Given the description of an element on the screen output the (x, y) to click on. 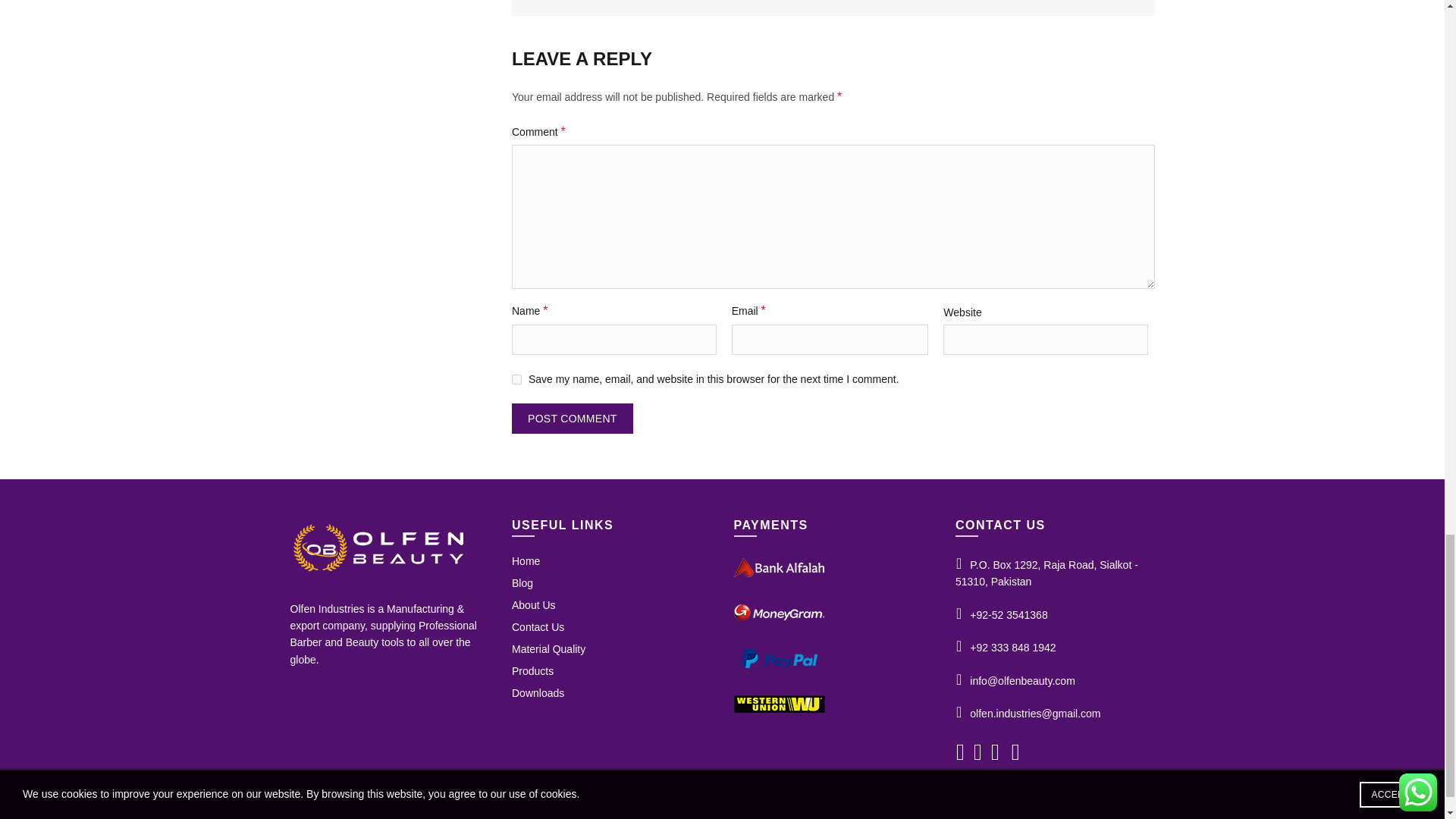
Post Comment (572, 418)
yes (516, 379)
